Given the description of an element on the screen output the (x, y) to click on. 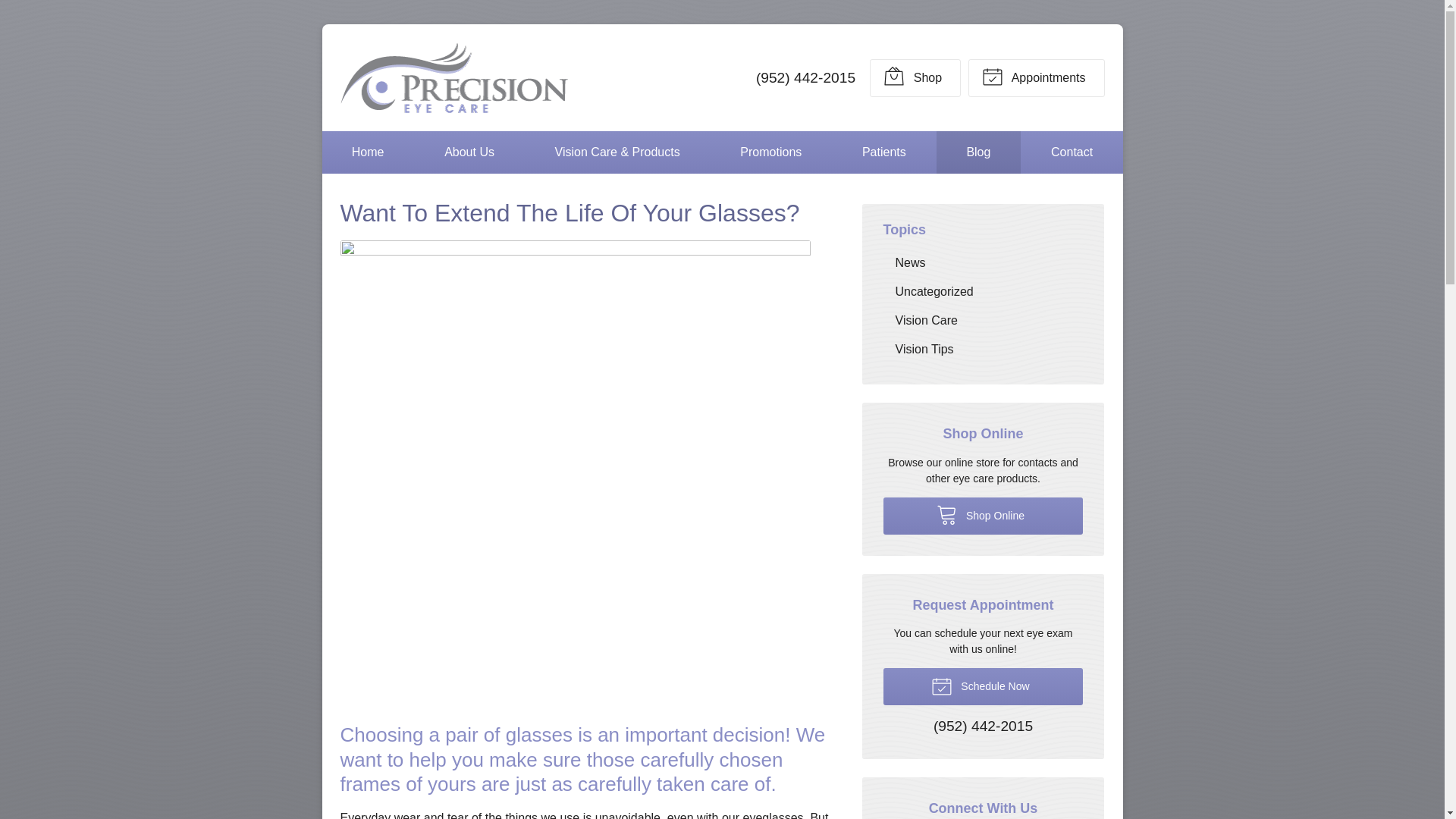
Shop Online (982, 515)
Call practice (982, 727)
Vision Care (982, 320)
Contact (1072, 152)
Request Appointment (1035, 77)
Blog (978, 152)
Schedule Now (982, 686)
Vision Tips (982, 348)
Precision Eye Care (453, 77)
Schedule Now (982, 686)
Home (367, 152)
Appointments (1035, 77)
Uncategorized (982, 291)
Shop Online (914, 77)
Promotions (770, 152)
